Given the description of an element on the screen output the (x, y) to click on. 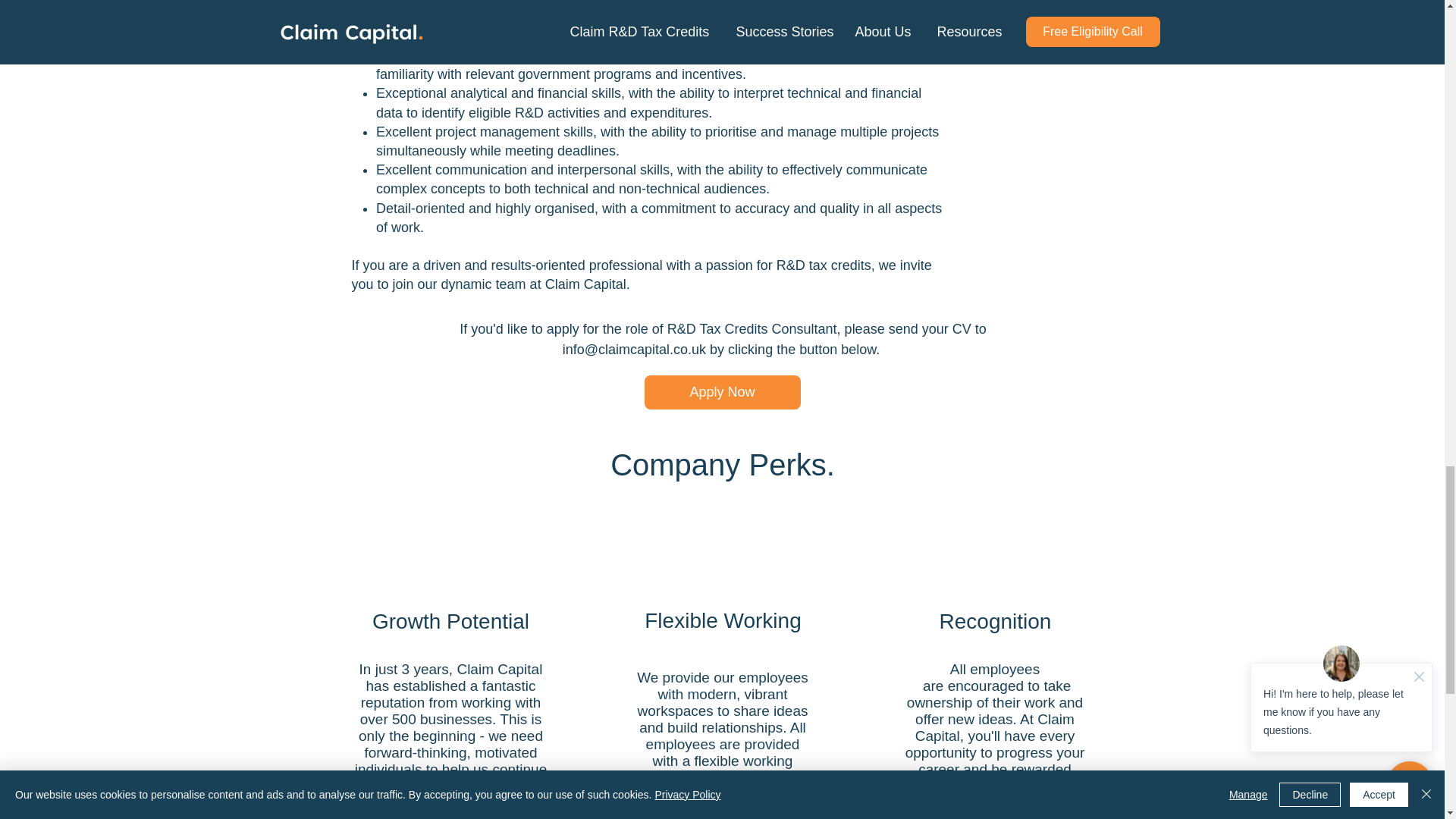
Apply Now (722, 392)
